Given the description of an element on the screen output the (x, y) to click on. 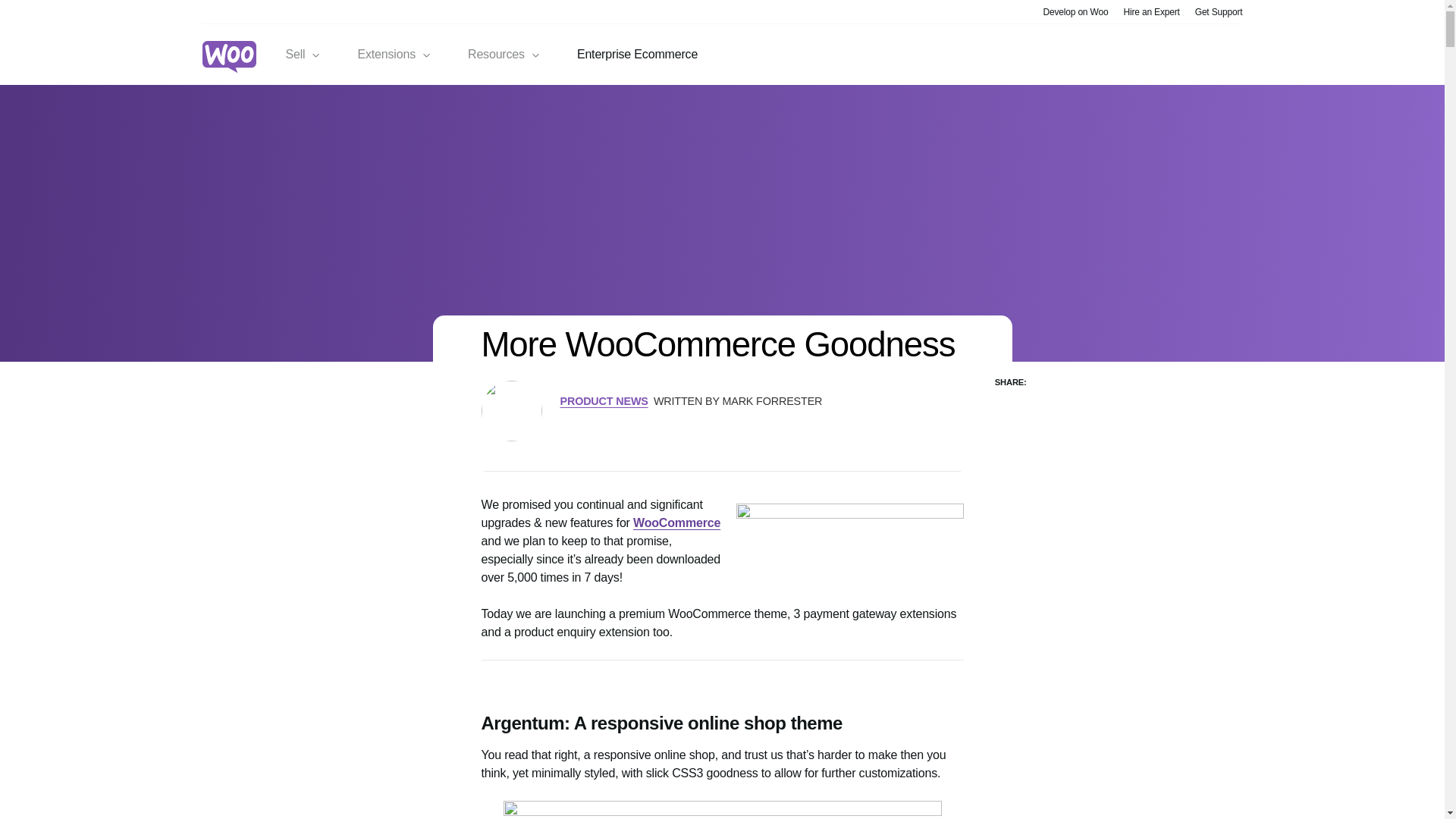
WooCommerce (676, 522)
Extensions (394, 54)
WooCommerce (676, 522)
Develop on Woo (1075, 11)
Enterprise Ecommerce (637, 54)
argentum-responds (722, 809)
Hire an Expert (1150, 11)
Sell (302, 54)
Resources (504, 54)
Get Support (1219, 11)
PRODUCT NEWS (603, 400)
